Given the description of an element on the screen output the (x, y) to click on. 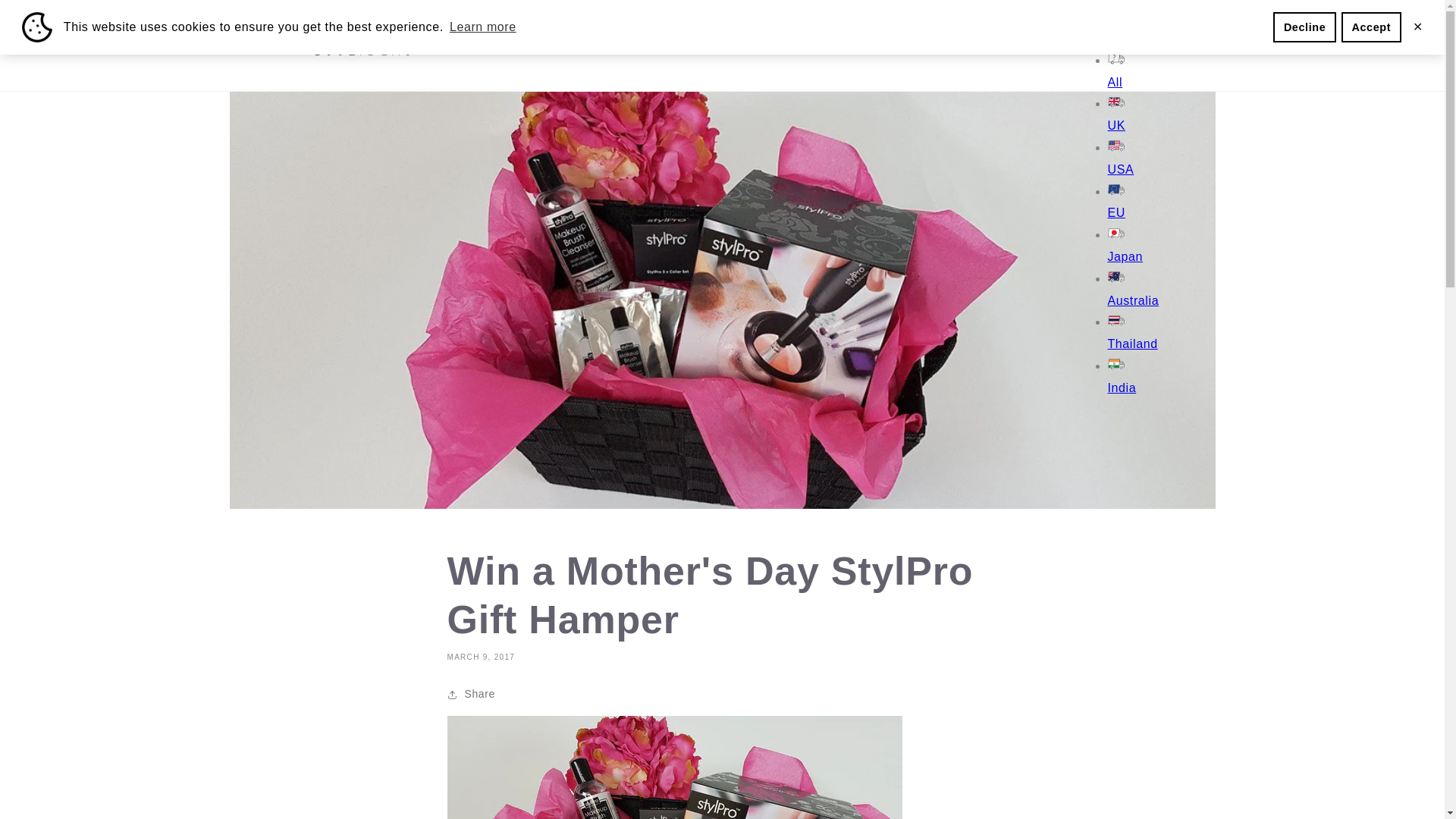
Home (463, 45)
Accept (1370, 27)
Learn more (482, 26)
Skip to content (45, 16)
Decline (1303, 27)
